Given the description of an element on the screen output the (x, y) to click on. 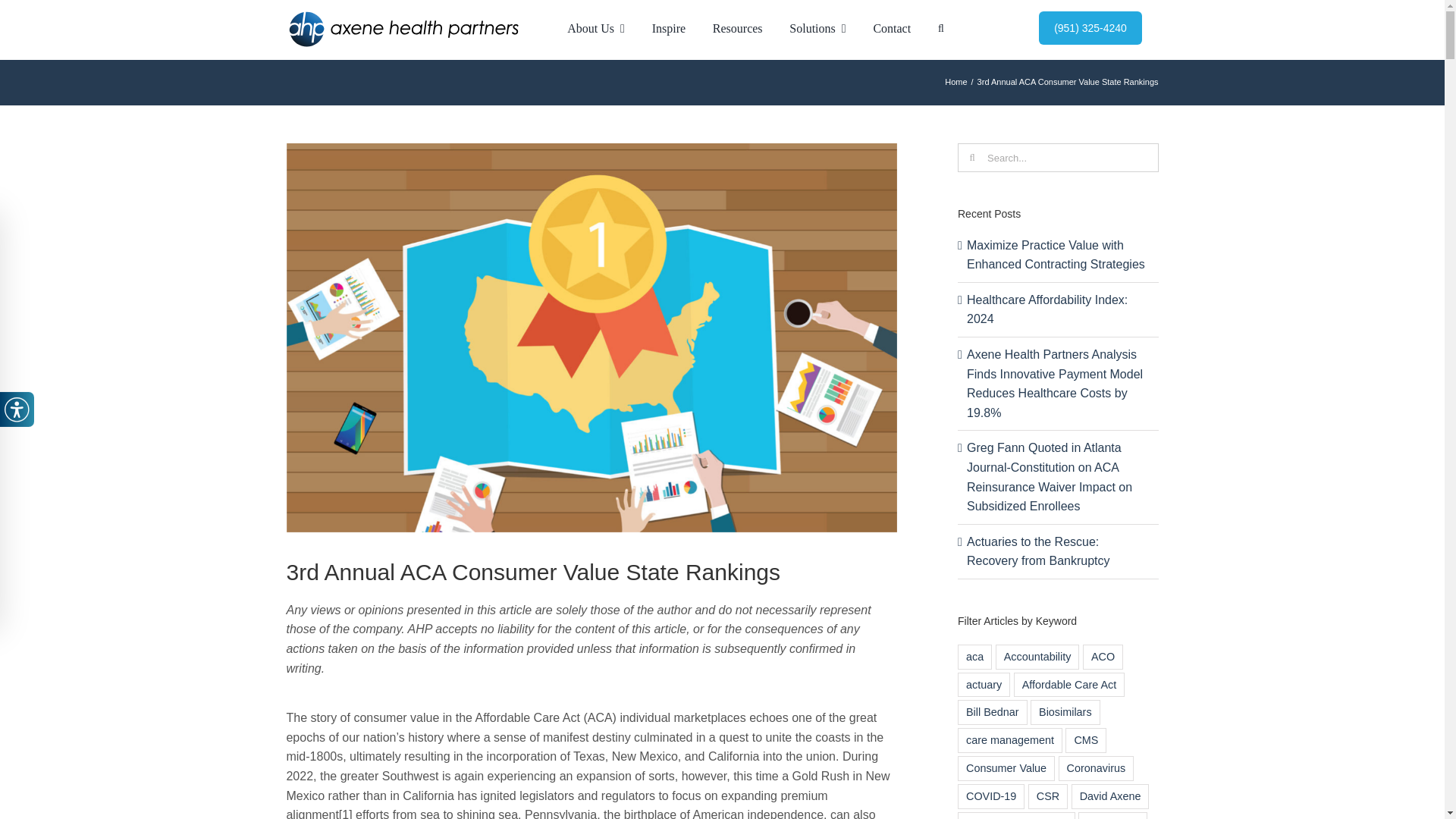
Solutions (817, 29)
Inspire (668, 29)
About Us (595, 29)
Resources (737, 29)
